Given the description of an element on the screen output the (x, y) to click on. 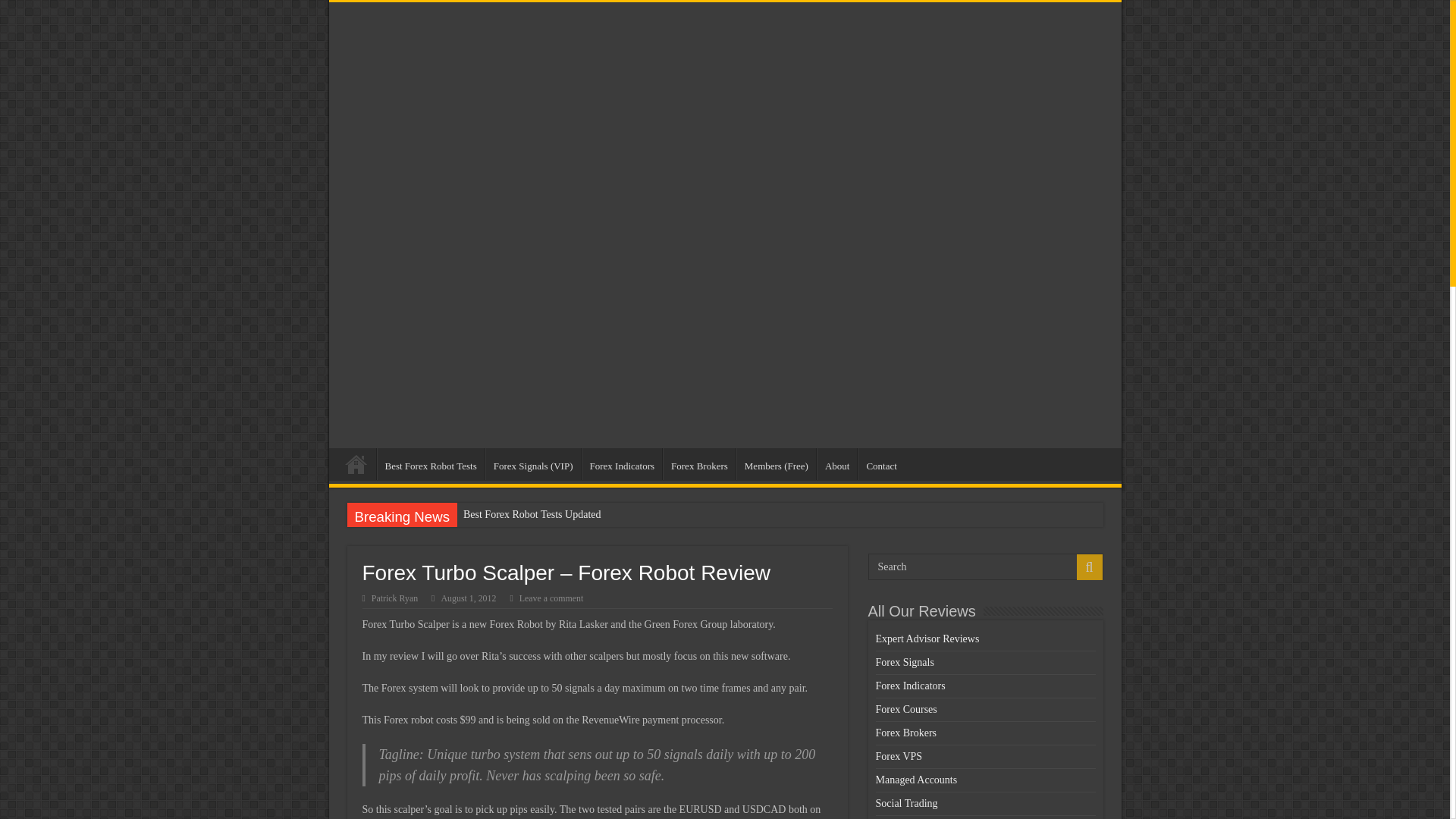
Expert Advisor Reviews (926, 638)
Home (355, 463)
Forex Brokers (698, 463)
Best Forex Robot Tests Updated (540, 514)
Best Forex Robot Tests Updated (540, 514)
Patrick Ryan (394, 597)
Contact (880, 463)
Forex Signals (904, 662)
Forex Indicators (621, 463)
Search (1089, 566)
